Given the description of an element on the screen output the (x, y) to click on. 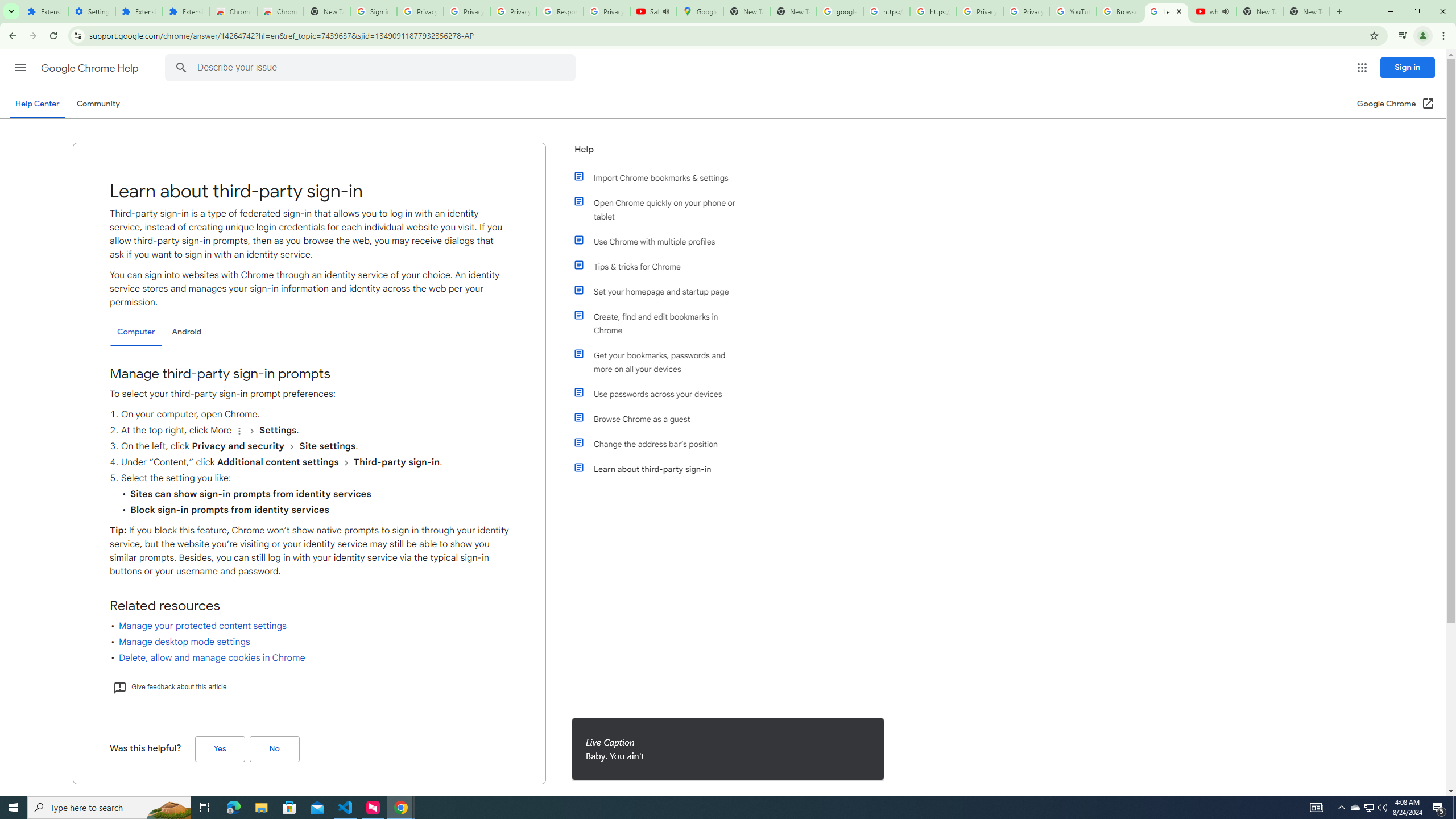
Use Chrome with multiple profiles (661, 241)
Browse Chrome as a guest (661, 419)
Extensions (186, 11)
https://scholar.google.com/ (886, 11)
and then (345, 462)
Google Maps (699, 11)
Sign in - Google Accounts (373, 11)
